Given the description of an element on the screen output the (x, y) to click on. 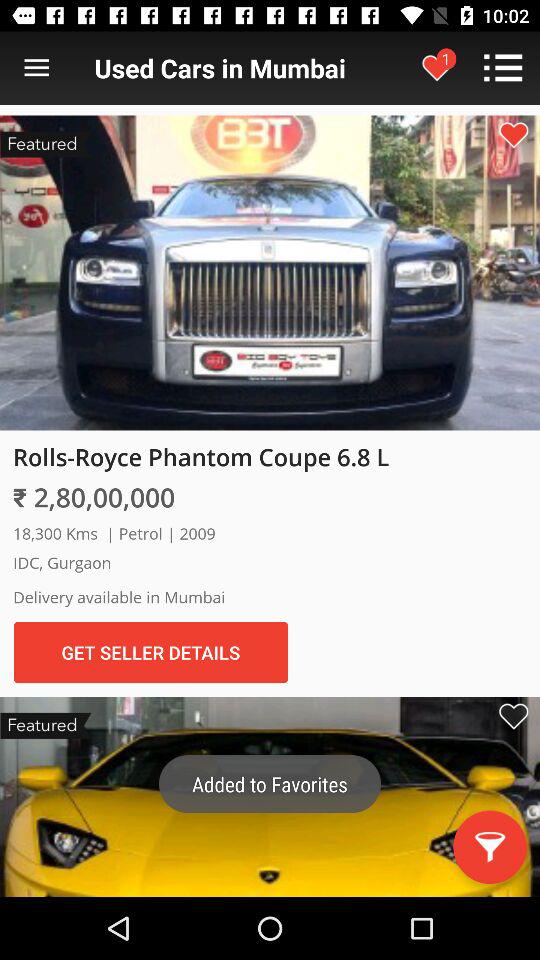
add as a favorite (513, 716)
